Given the description of an element on the screen output the (x, y) to click on. 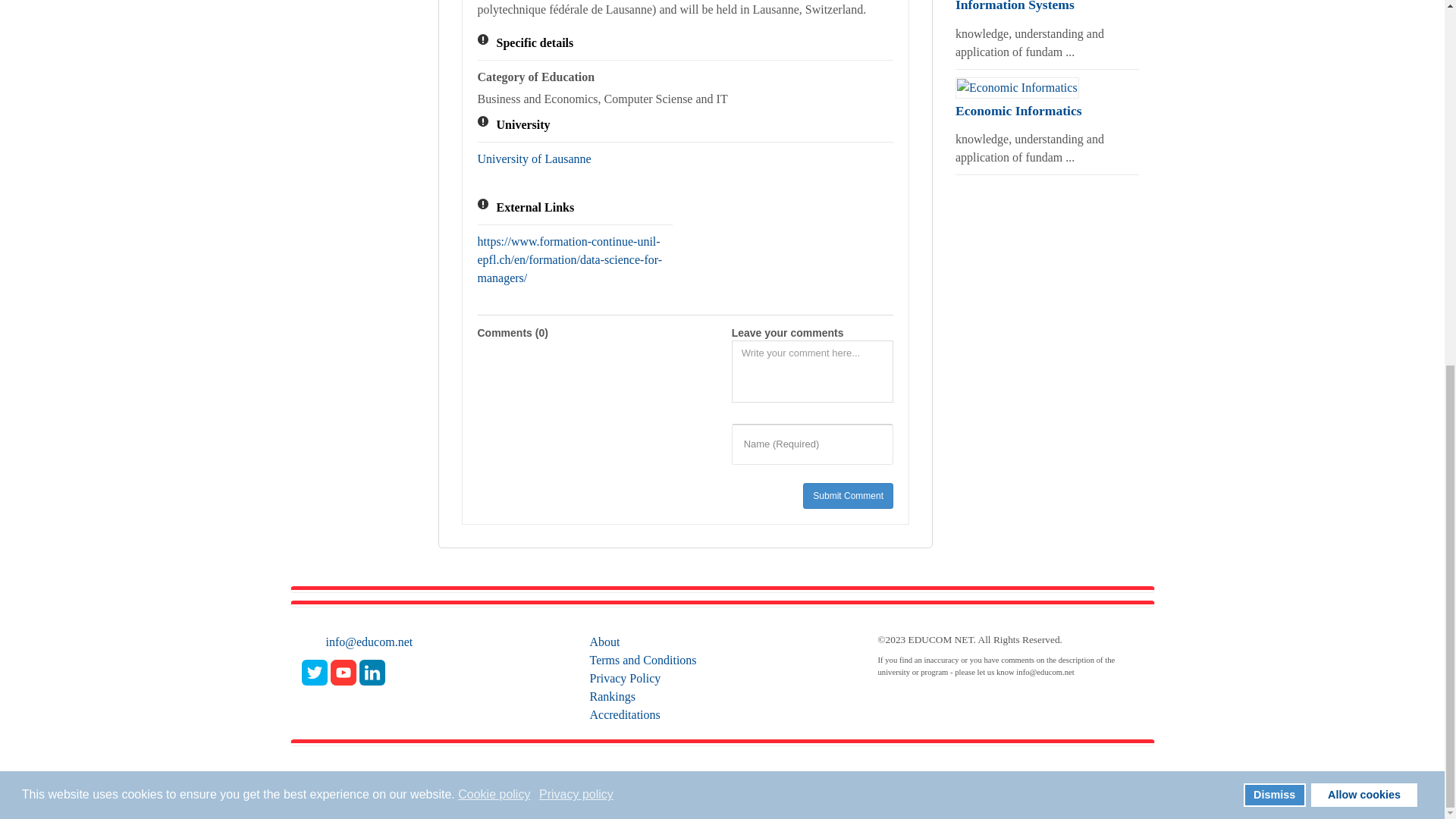
University of Lausanne (534, 158)
LinkedIn (371, 672)
Dismiss (1274, 138)
Allow cookies (1363, 138)
Privacy policy (576, 138)
Twitter (313, 672)
Youtube (342, 672)
Cookie policy (495, 138)
